Given the description of an element on the screen output the (x, y) to click on. 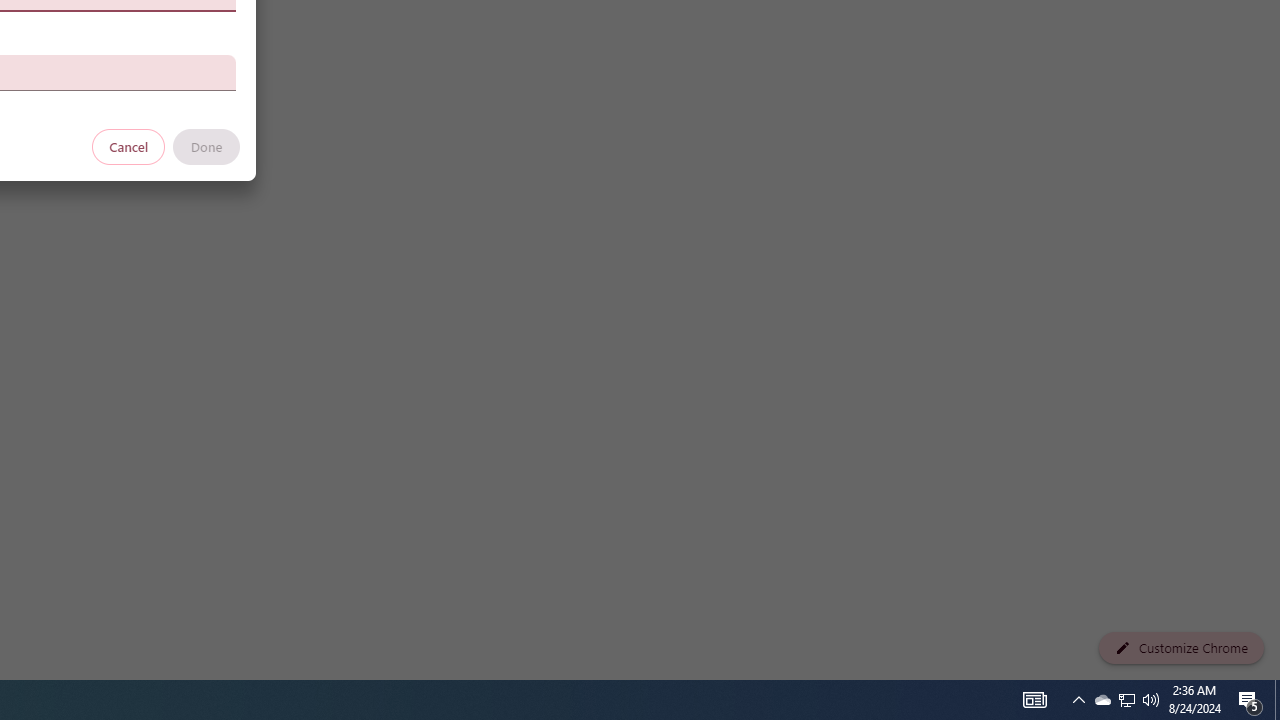
Done (206, 146)
Cancel (129, 146)
